Given the description of an element on the screen output the (x, y) to click on. 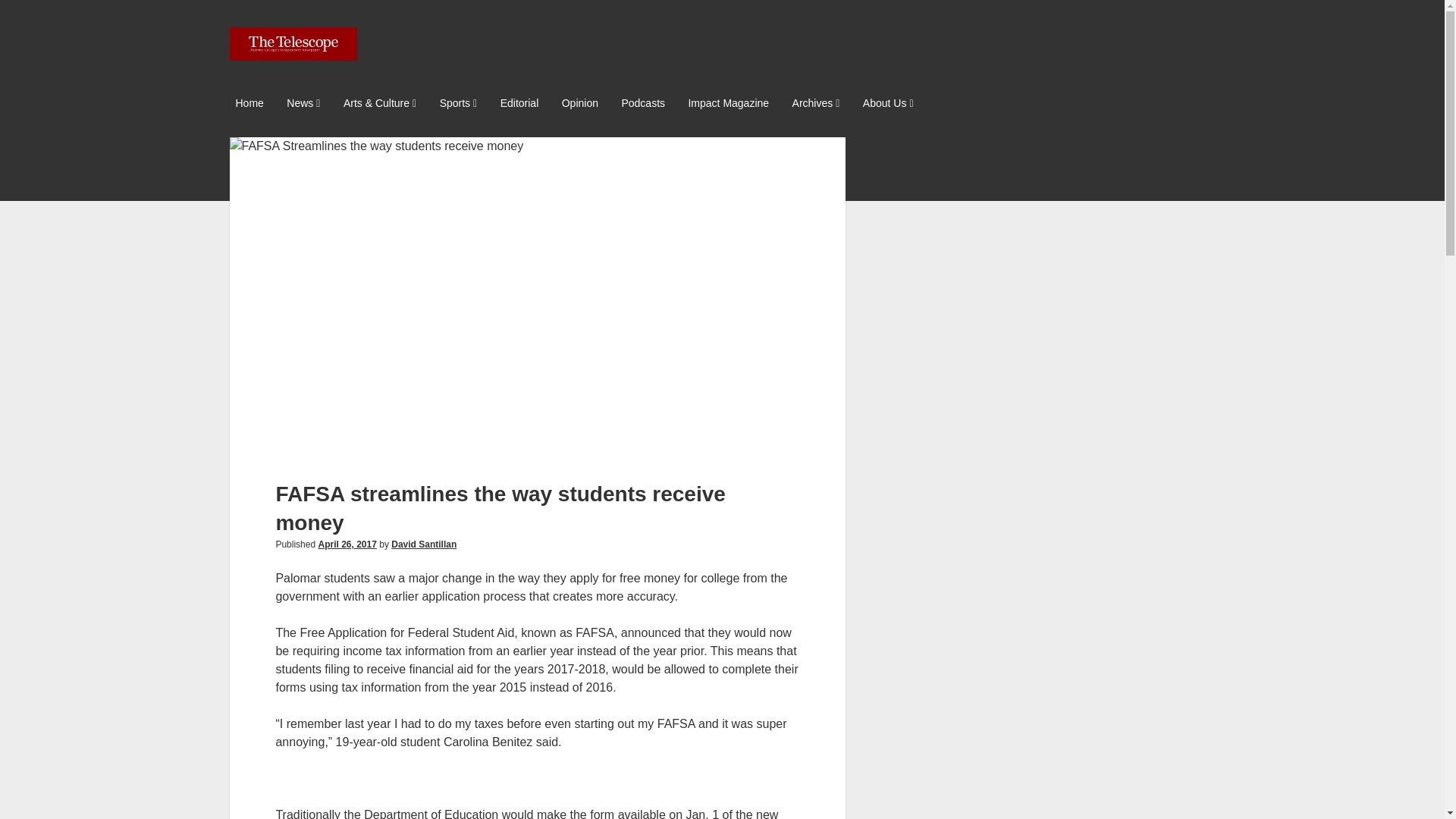
About Us (888, 104)
Home (248, 103)
Podcasts (642, 103)
David Santillan (424, 543)
Sports (458, 104)
Editorial (519, 103)
April 26, 2017 (346, 543)
Archives (815, 104)
Impact Magazine (727, 103)
News (303, 104)
The Telescope (292, 54)
Opinion (580, 103)
